Given the description of an element on the screen output the (x, y) to click on. 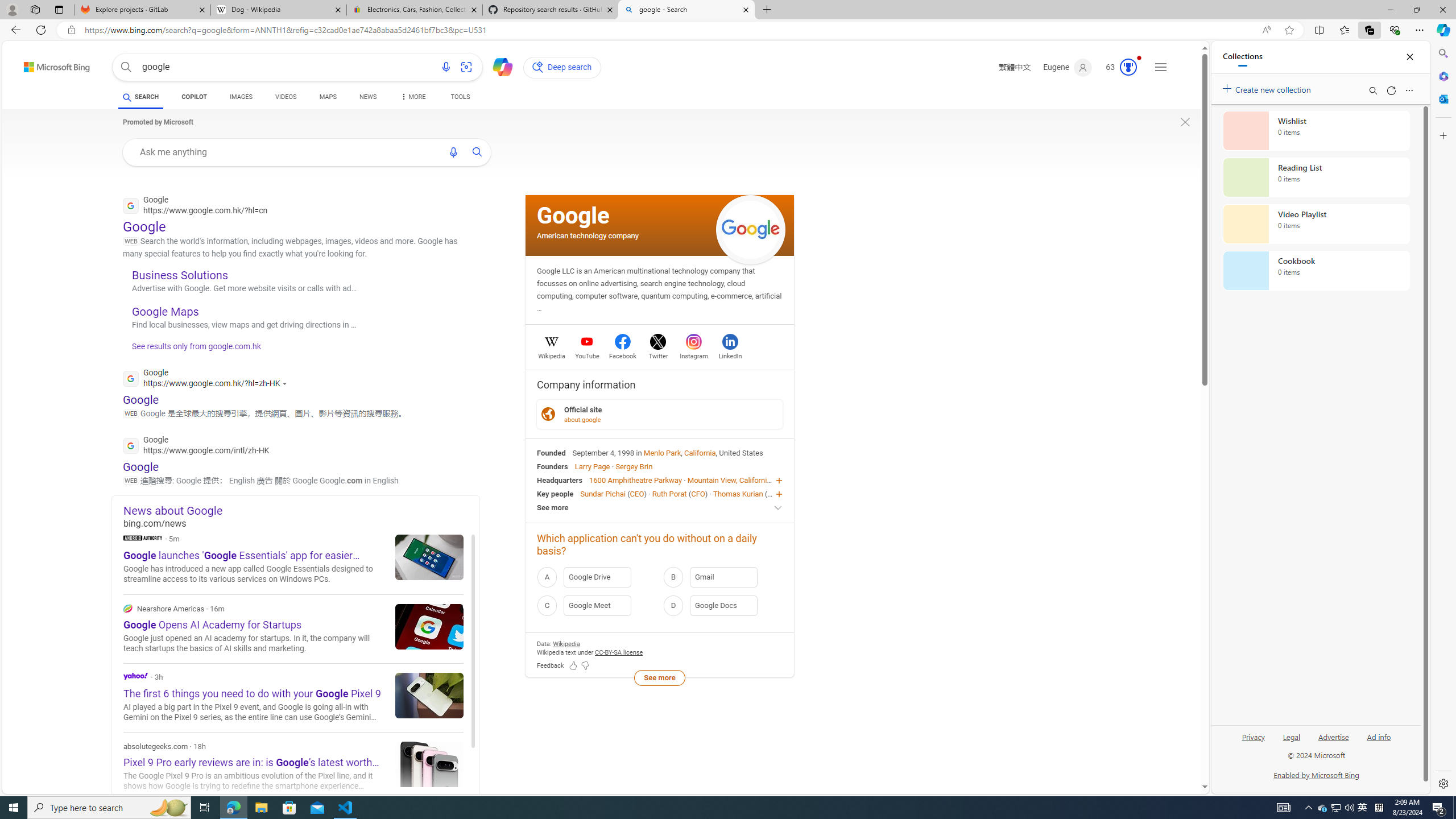
California (700, 452)
Actions for this site (286, 383)
Create new collection (1268, 87)
Menlo Park (662, 452)
MAPS (327, 98)
To get missing image descriptions, open the context menu. (1184, 121)
Data attribution Wikipedia (566, 643)
Advertise (1333, 736)
TOOLS (460, 96)
Dog - Wikipedia (277, 9)
